Given the description of an element on the screen output the (x, y) to click on. 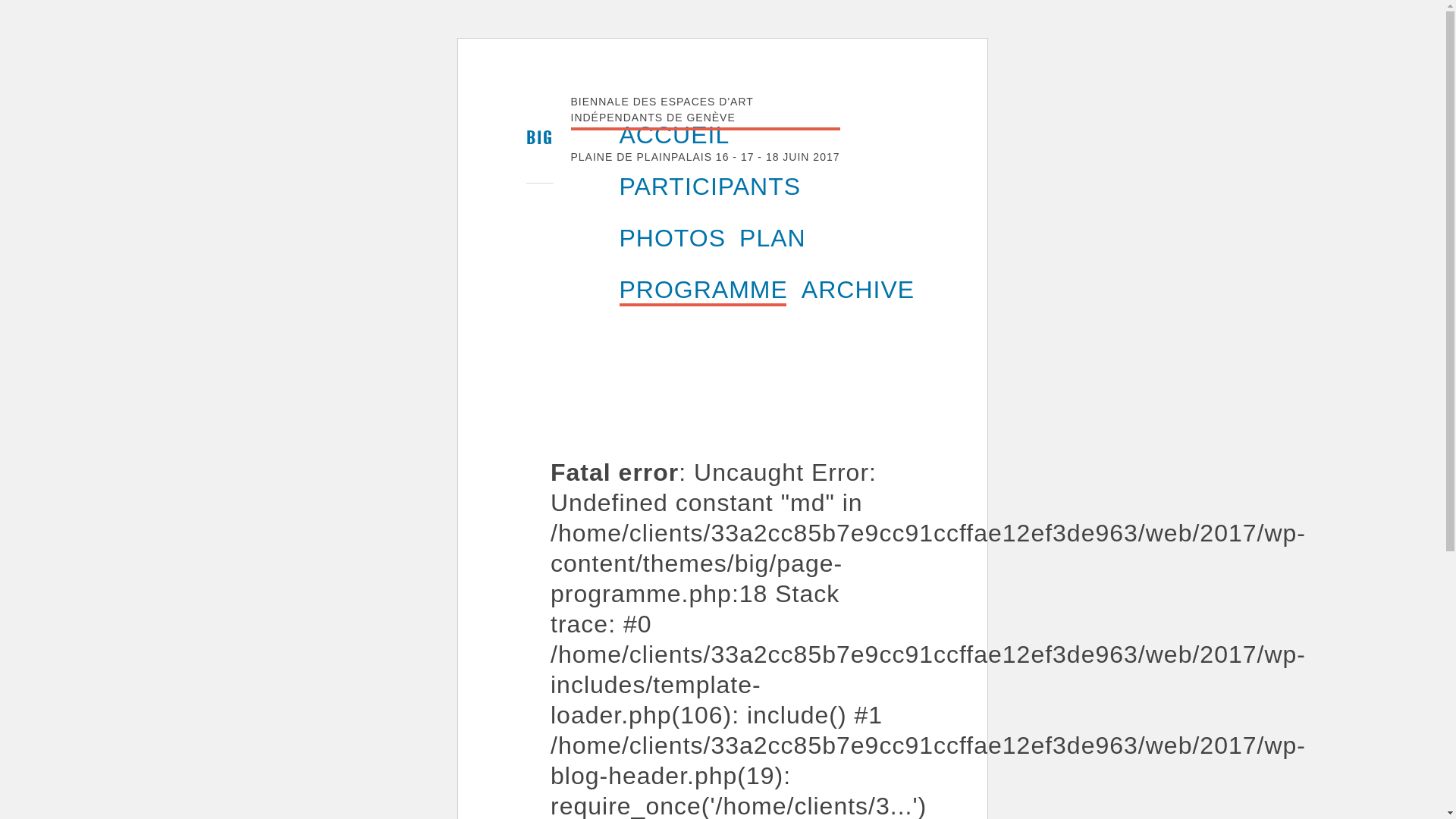
ARCHIVE Element type: text (853, 289)
PROGRAMME Element type: text (699, 289)
PHOTOS Element type: text (668, 237)
PARTICIPANTS Element type: text (708, 186)
ACCUEIL Element type: text (672, 134)
PLAN Element type: text (768, 237)
BIG Element type: text (535, 137)
